Given the description of an element on the screen output the (x, y) to click on. 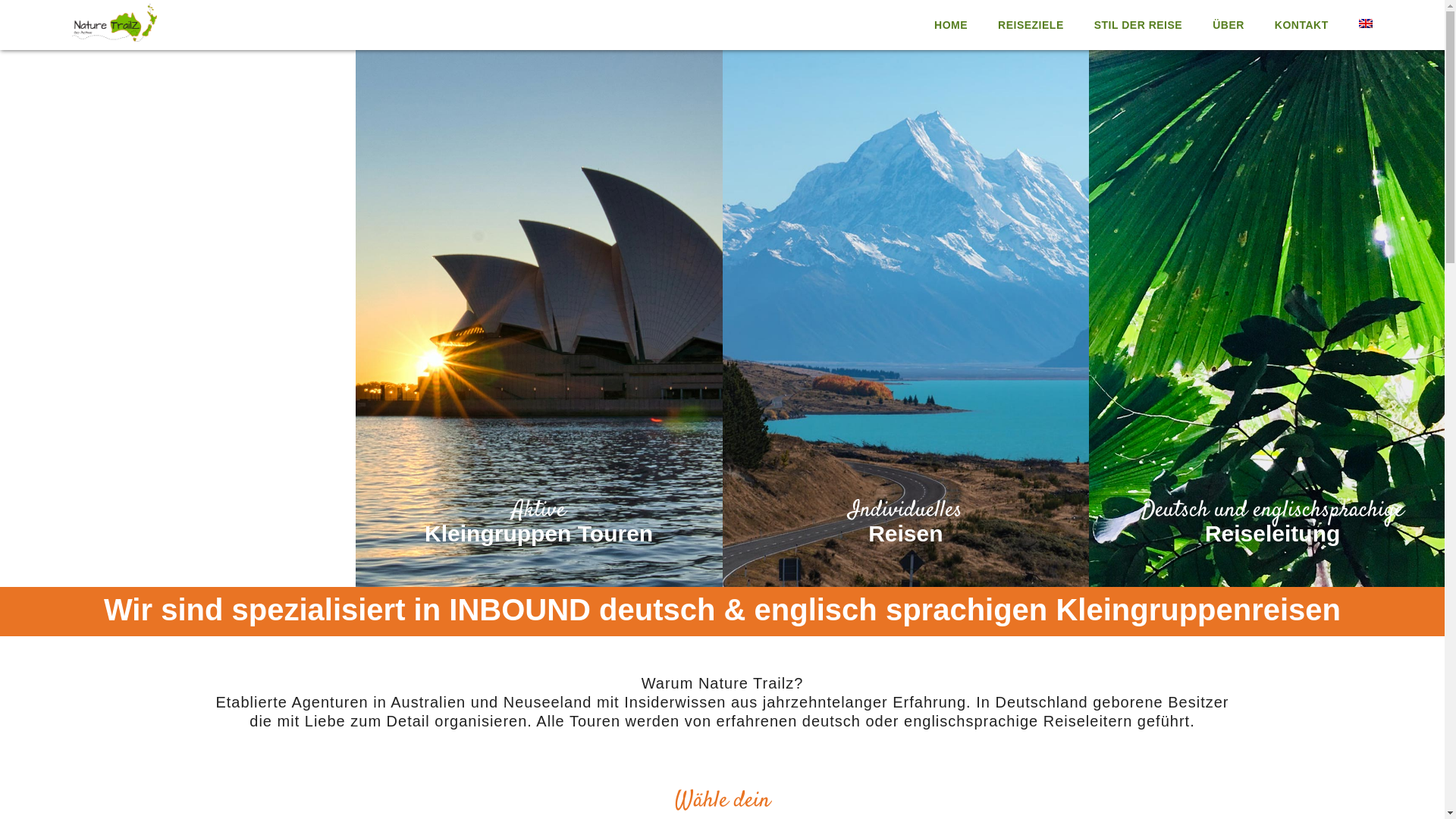
REISEZIELE Element type: text (1030, 24)
KONTAKT Element type: text (1301, 24)
HOME Element type: text (950, 24)
STIL DER REISE Element type: text (1138, 24)
